Given the description of an element on the screen output the (x, y) to click on. 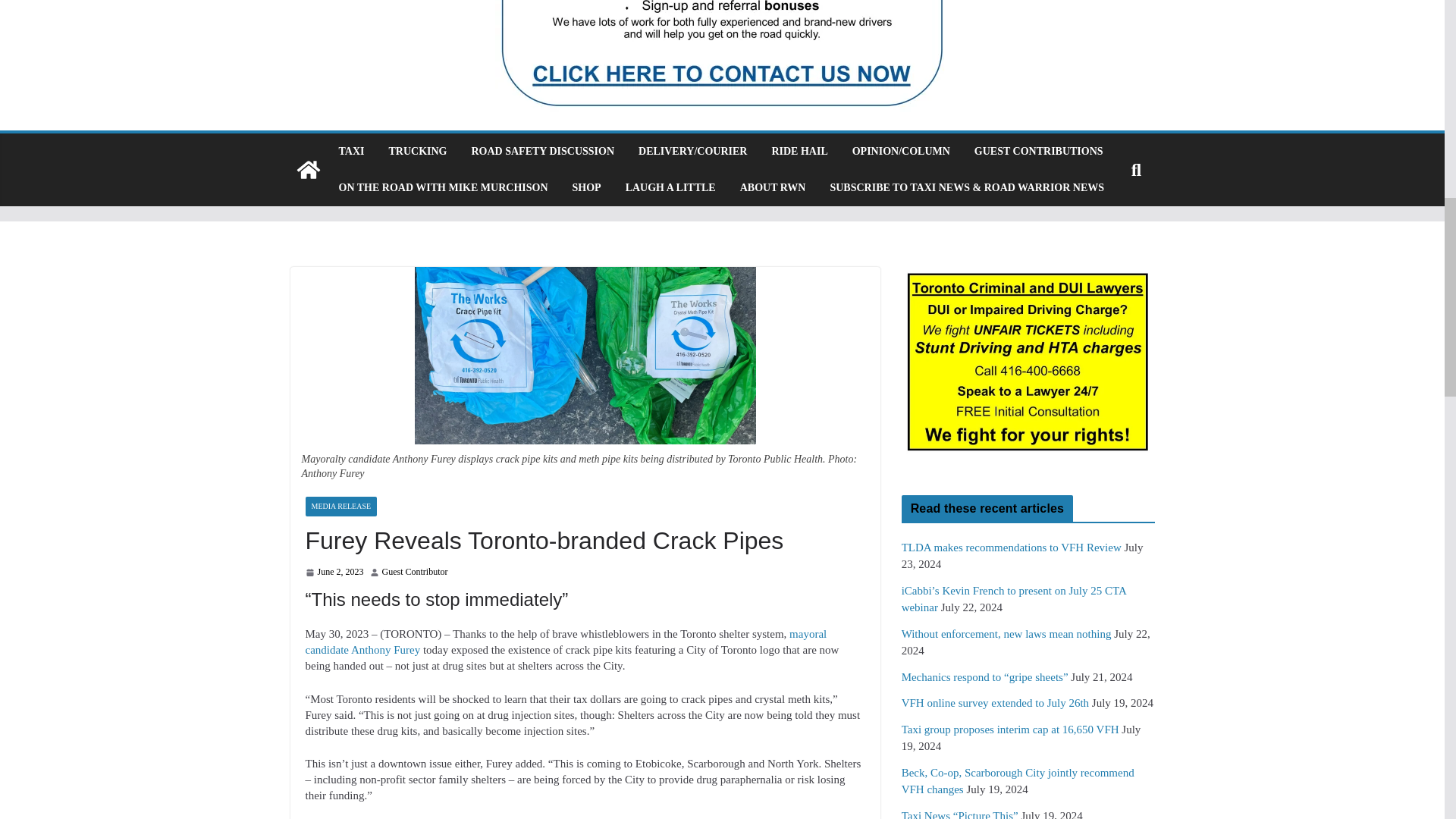
June 2, 2023 (333, 571)
LAUGH A LITTLE (671, 188)
SHOP (586, 188)
MEDIA RELEASE (340, 506)
GUEST CONTRIBUTIONS (1038, 151)
Guest Contributor (414, 571)
5:14 am (333, 571)
ON THE ROAD WITH MIKE MURCHISON (442, 188)
mayoral candidate Anthony Furey (565, 642)
ABOUT RWN (772, 188)
ROAD SAFETY DISCUSSION (542, 151)
TAXI (350, 151)
TRUCKING (417, 151)
Guest Contributor (414, 571)
RIDE HAIL (799, 151)
